Given the description of an element on the screen output the (x, y) to click on. 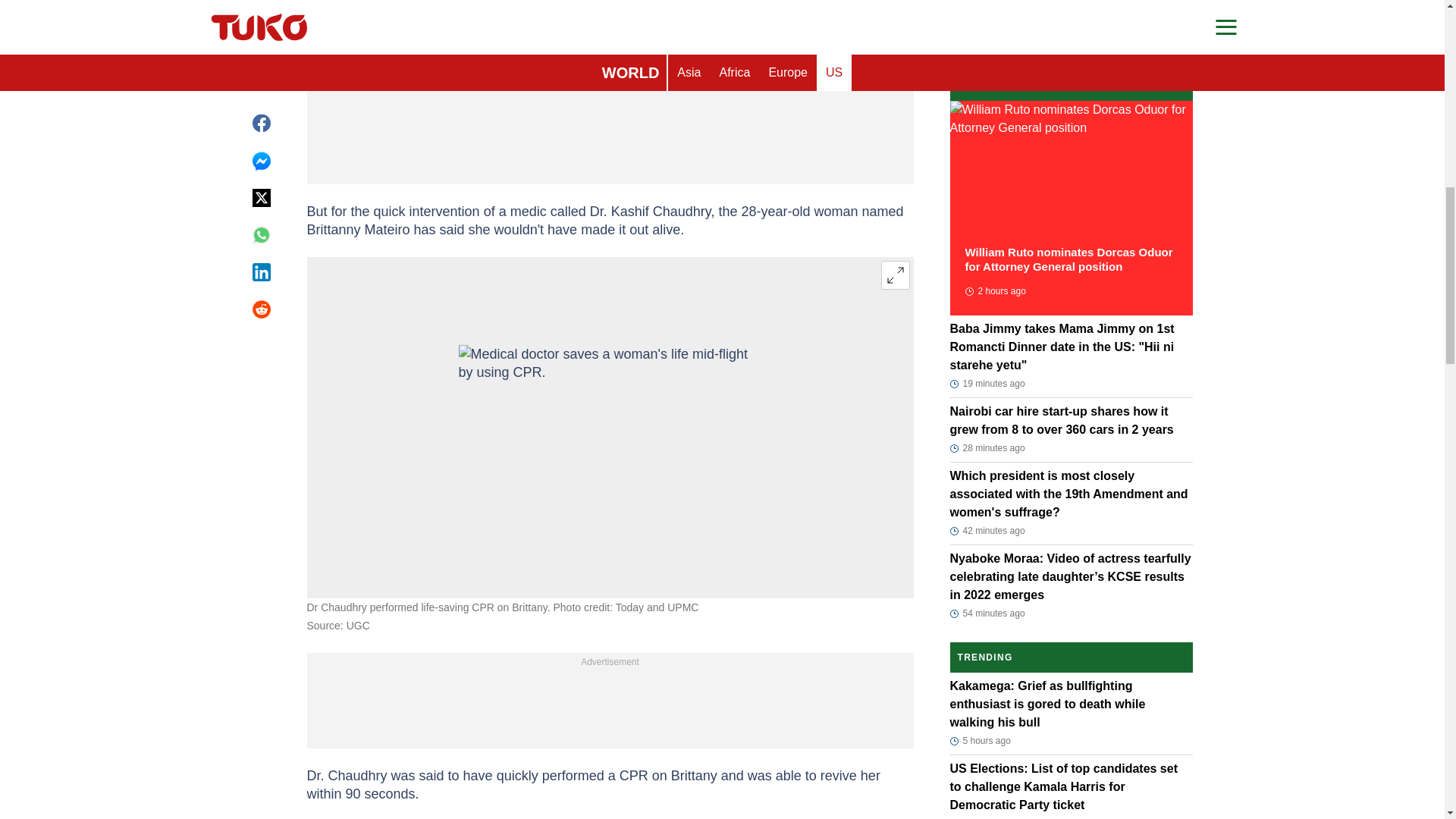
Medical doctor saves a woman's life mid-flight by using CPR. (609, 426)
Expand image (895, 275)
